Given the description of an element on the screen output the (x, y) to click on. 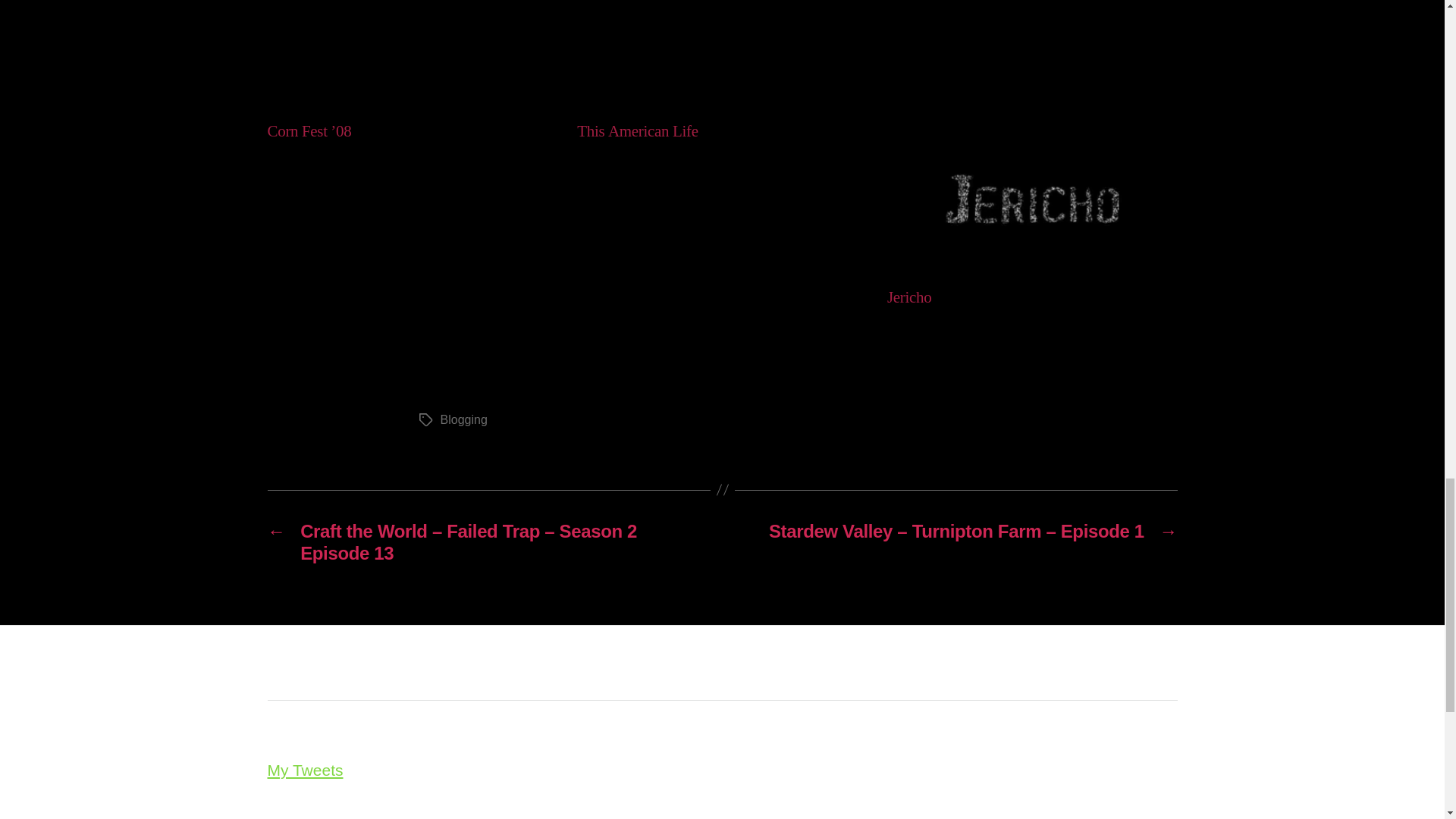
This American Life (729, 233)
Jericho (1031, 202)
Jericho (908, 297)
This American Life (636, 131)
